Given the description of an element on the screen output the (x, y) to click on. 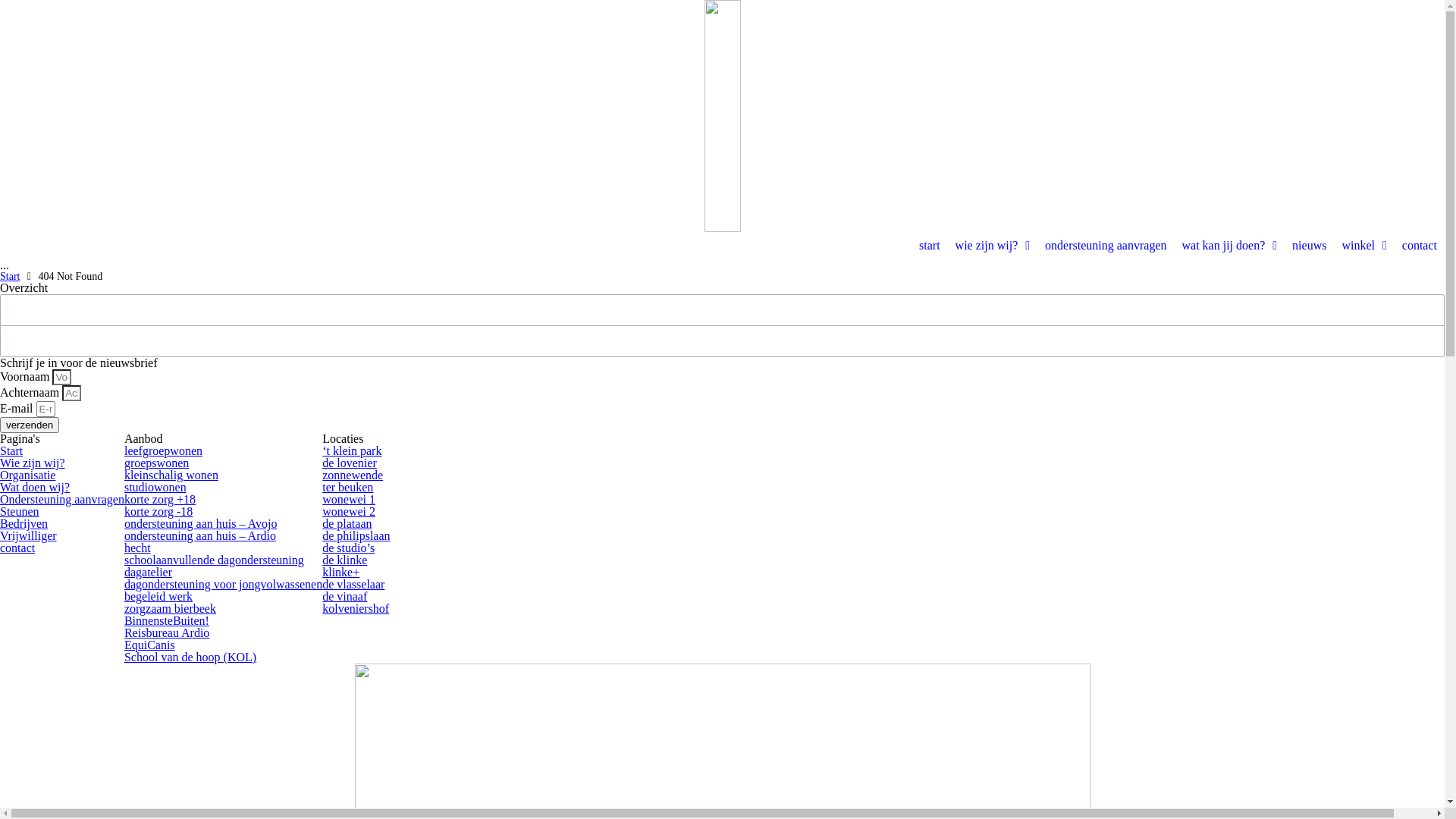
ter beuken Element type: text (347, 486)
nieuws Element type: text (1308, 245)
de vlasselaar Element type: text (353, 583)
hecht Element type: text (137, 547)
Start Element type: text (9, 276)
de philipslaan Element type: text (355, 535)
kolveniershof Element type: text (355, 608)
zonnewende Element type: text (352, 474)
BinnensteBuiten! Element type: text (166, 620)
studiowonen Element type: text (155, 486)
korte zorg -18 Element type: text (158, 511)
dagatelier Element type: text (148, 571)
contact Element type: text (17, 547)
Wat doen wij? Element type: text (34, 486)
Ondersteuning aanvragen Element type: text (62, 498)
start Element type: text (929, 245)
klinke+ Element type: text (340, 571)
leefgroepwonen Element type: text (163, 450)
Steunen Element type: text (19, 511)
zorgzaam bierbeek Element type: text (170, 608)
begeleid werk Element type: text (158, 595)
korte zorg +18 Element type: text (159, 498)
Bedrijven Element type: text (23, 523)
schoolaanvullende dagondersteuning Element type: text (214, 559)
de klinke Element type: text (344, 559)
contact Element type: text (1419, 245)
Wie zijn wij? Element type: text (32, 462)
School van de hoop (KOL) Element type: text (190, 656)
Vrijwilliger Element type: text (28, 535)
kleinschalig wonen Element type: text (171, 474)
dagondersteuning voor jongvolwassenen Element type: text (223, 583)
EquiCanis Element type: text (149, 644)
Start Element type: text (11, 450)
Organisatie Element type: text (27, 474)
wie zijn wij? Element type: text (992, 245)
Reisbureau Ardio Element type: text (166, 632)
de vinaaf Element type: text (344, 595)
groepswonen Element type: text (156, 462)
ondersteuning aanvragen Element type: text (1105, 245)
verzenden Element type: text (29, 425)
de plataan Element type: text (346, 523)
de lovenier Element type: text (349, 462)
winkel Element type: text (1363, 245)
wonewei 1 Element type: text (348, 498)
wonewei 2 Element type: text (348, 511)
wat kan jij doen? Element type: text (1228, 245)
